Given the description of an element on the screen output the (x, y) to click on. 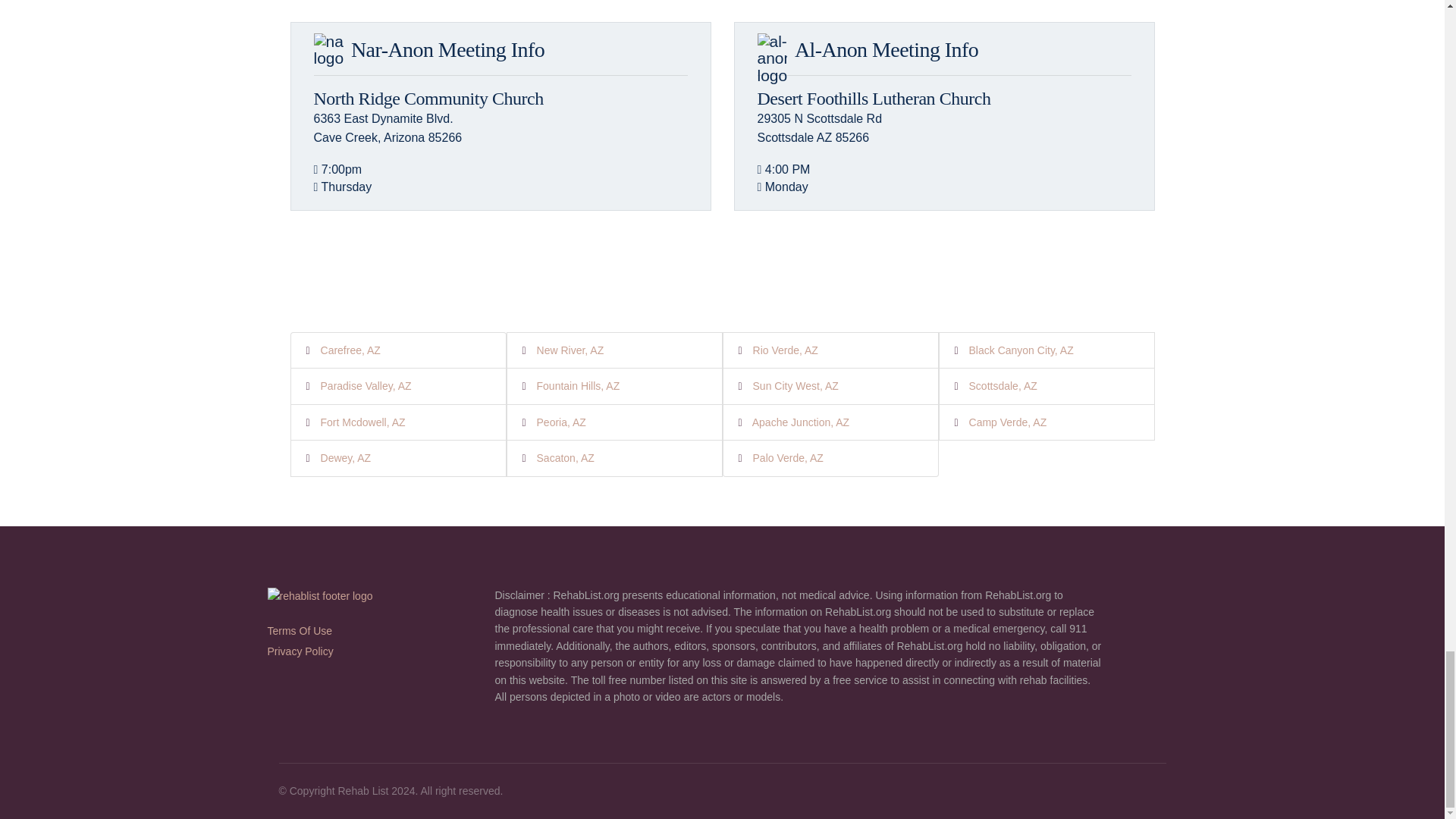
Fountain Hills, AZ (578, 386)
Black Canyon City, AZ (1021, 349)
Fort Mcdowell, AZ (363, 422)
Terms Of Use (298, 630)
Scottsdale, AZ (1002, 386)
Privacy Policy (299, 651)
Peoria, AZ (561, 422)
Sun City West, AZ (795, 386)
New River, AZ (570, 349)
Camp Verde, AZ (1007, 422)
Apache Junction, AZ (800, 422)
Palo Verde, AZ (788, 458)
Dewey, AZ (345, 458)
Sacaton, AZ (565, 458)
Paradise Valley, AZ (366, 386)
